Given the description of an element on the screen output the (x, y) to click on. 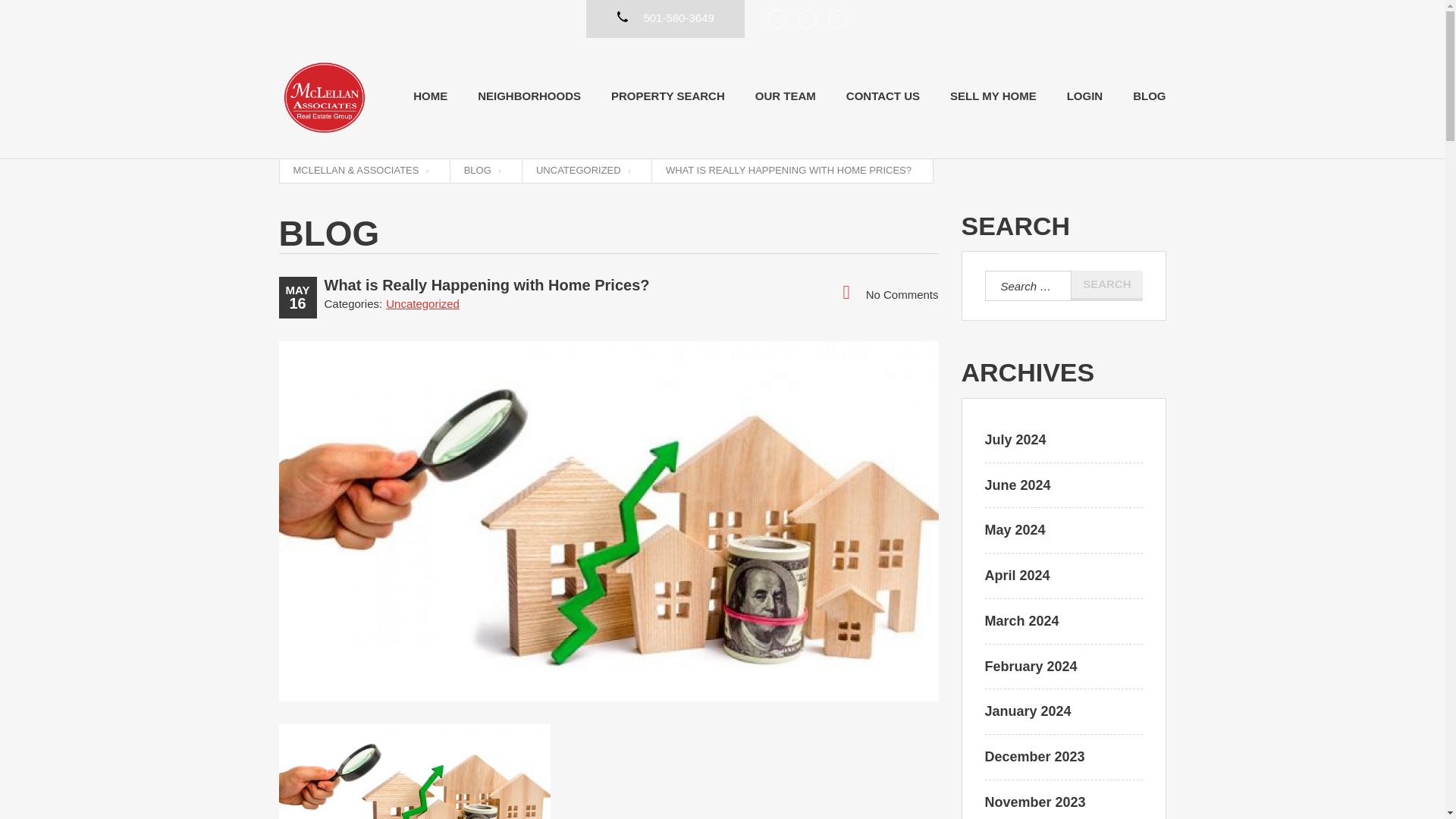
UNCATEGORIZED (582, 170)
HOME (429, 95)
501-580-3649 (665, 11)
No Comments (891, 292)
BLOG (1149, 95)
OUR TEAM (785, 95)
Go to Blog. (482, 170)
Search (1106, 286)
Go to the Uncategorized Category archives. (582, 170)
BLOG (482, 170)
CONTACT US (882, 95)
NEIGHBORHOODS (528, 95)
Uncategorized (422, 303)
SELL MY HOME (993, 95)
What is Really Happening with Home Prices? (486, 284)
